Given the description of an element on the screen output the (x, y) to click on. 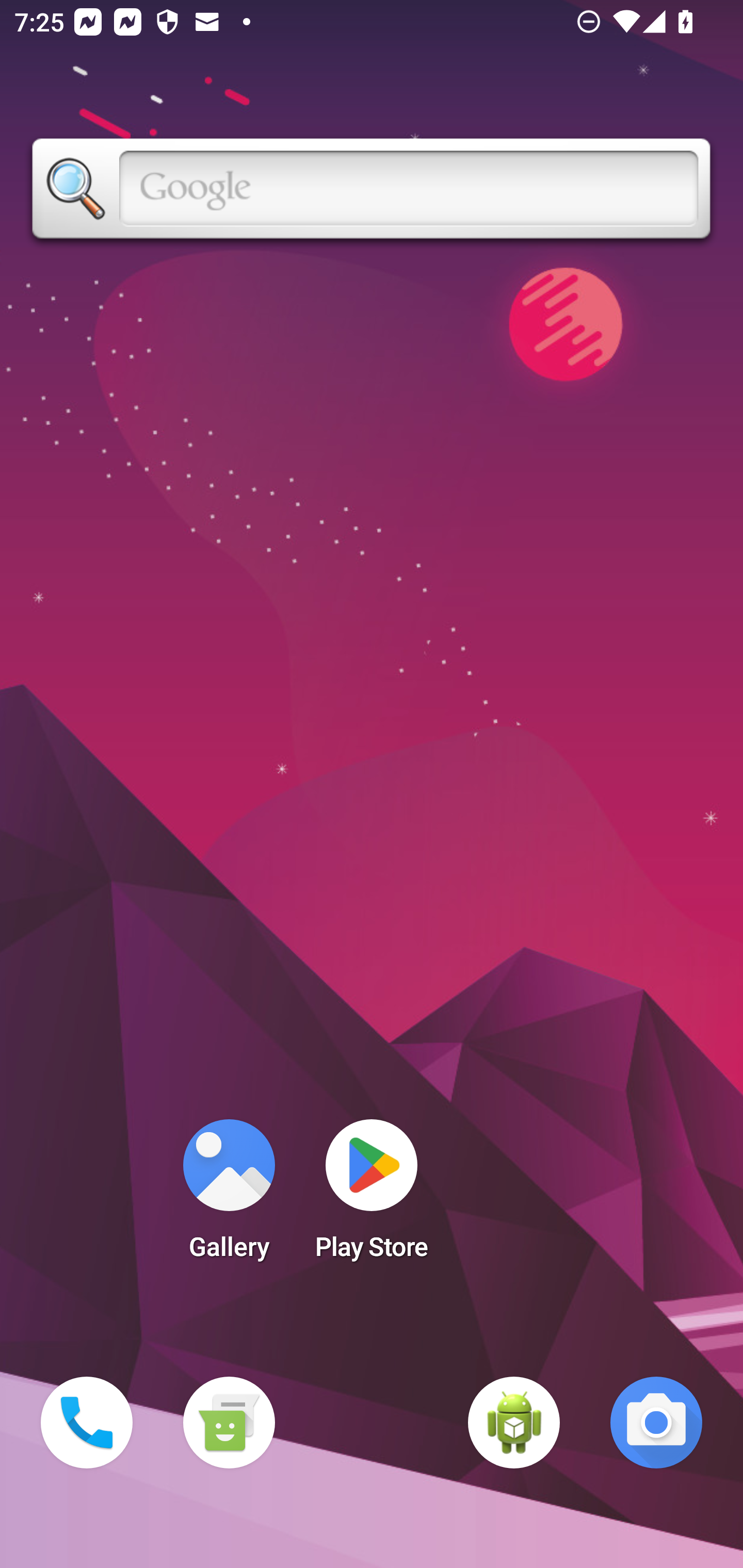
Gallery (228, 1195)
Play Store (371, 1195)
Phone (86, 1422)
Messaging (228, 1422)
WebView Browser Tester (513, 1422)
Camera (656, 1422)
